Given the description of an element on the screen output the (x, y) to click on. 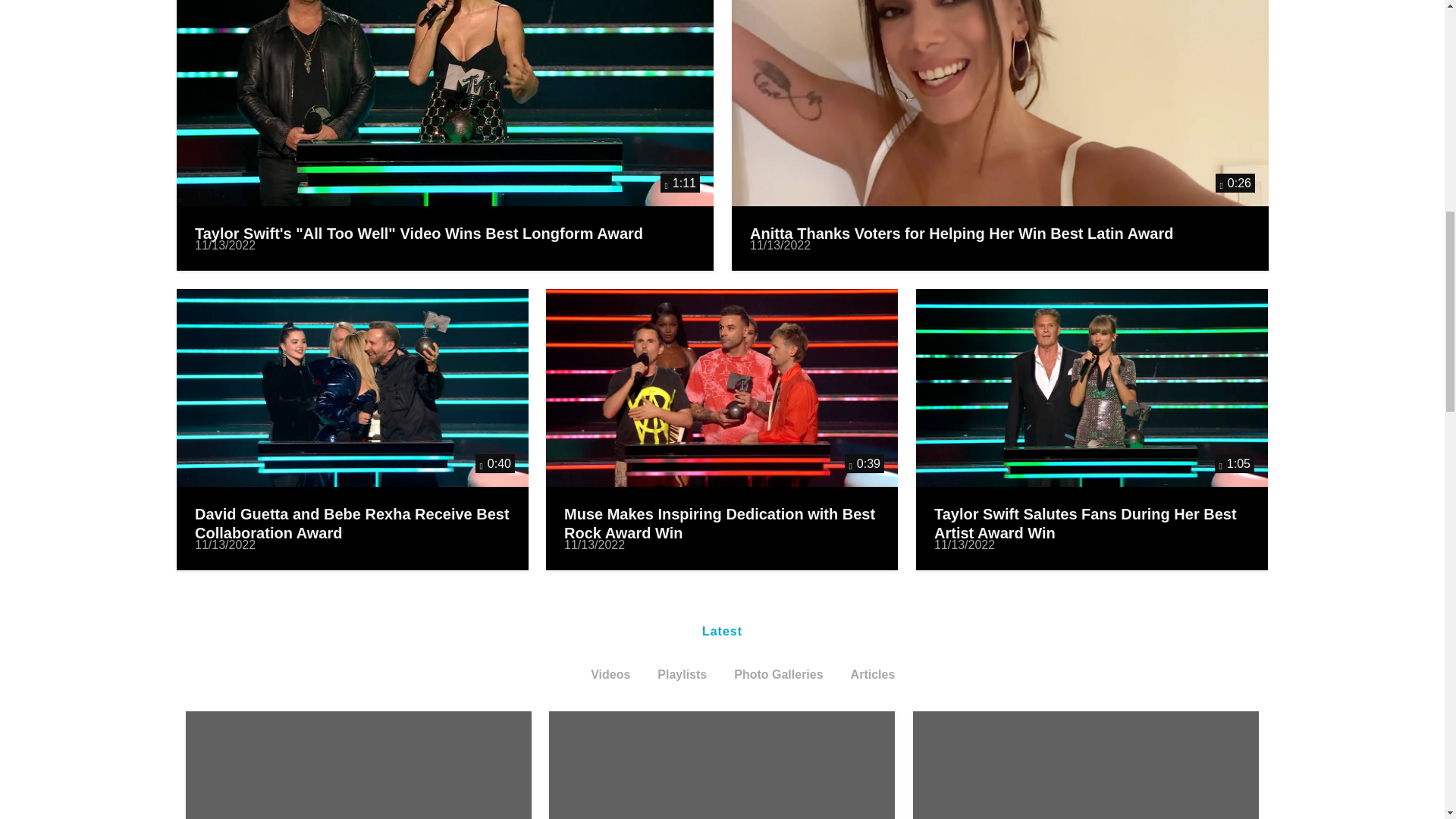
Playlists (682, 674)
Photo Galleries (777, 674)
Articles (872, 674)
Videos (610, 674)
All (555, 674)
